Given the description of an element on the screen output the (x, y) to click on. 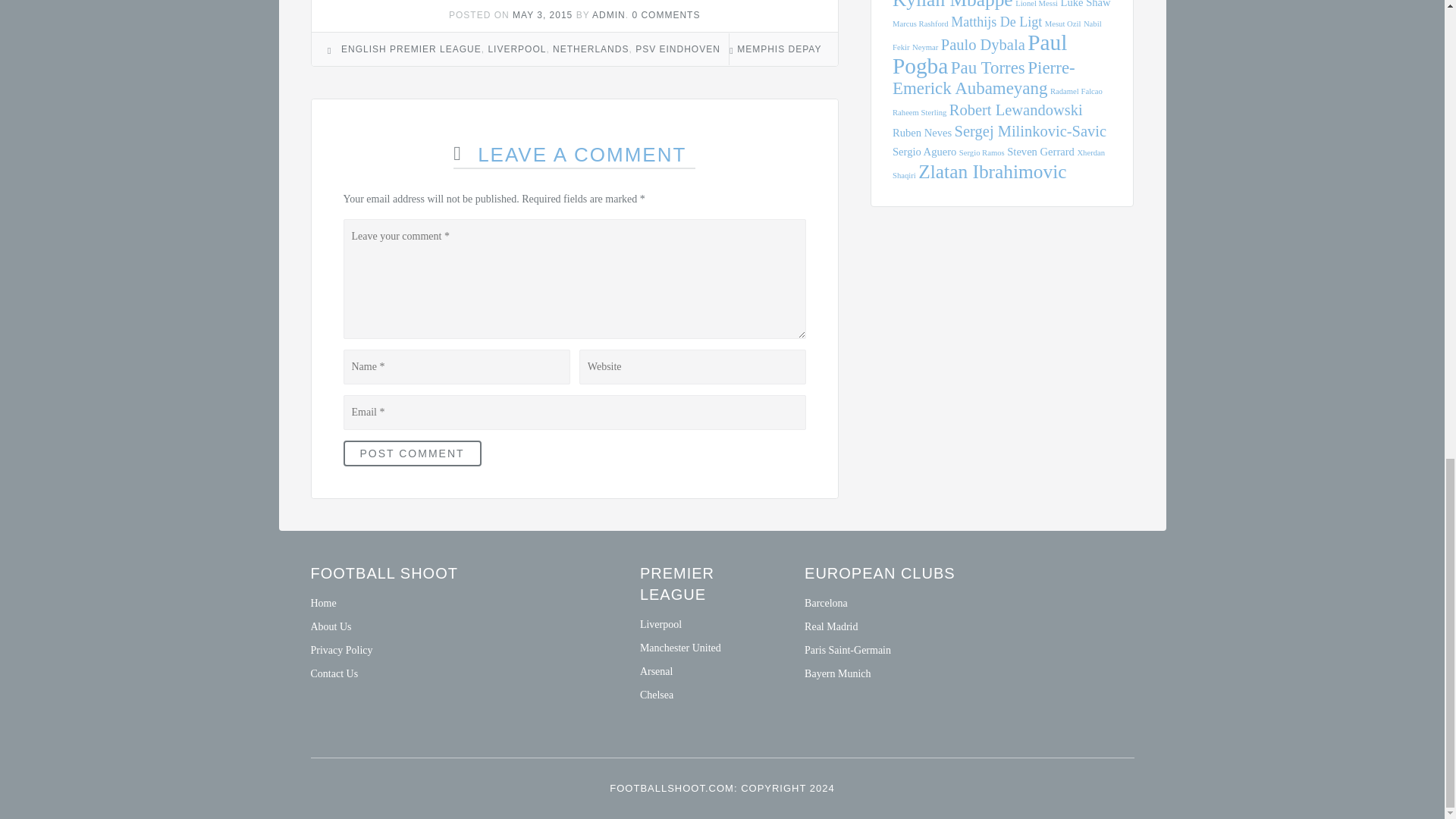
MAY 3, 2015 (542, 14)
0 COMMENTS (665, 14)
ADMIN (609, 14)
PSV EINDHOVEN (677, 49)
LIVERPOOL (516, 49)
Post Comment (411, 453)
Post Comment (411, 453)
ENGLISH PREMIER LEAGUE (410, 49)
MEMPHIS DEPAY (778, 49)
NETHERLANDS (590, 49)
